Given the description of an element on the screen output the (x, y) to click on. 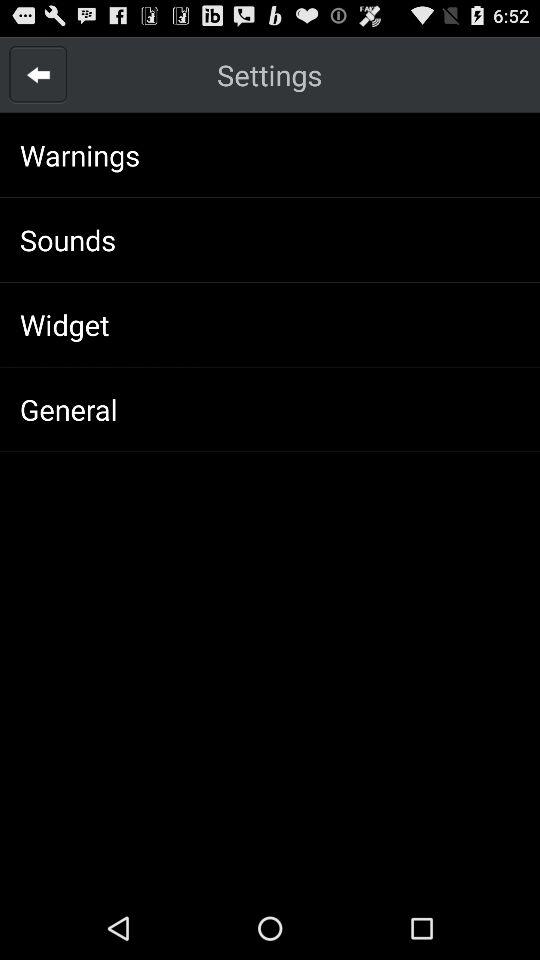
jump until the general (68, 409)
